Given the description of an element on the screen output the (x, y) to click on. 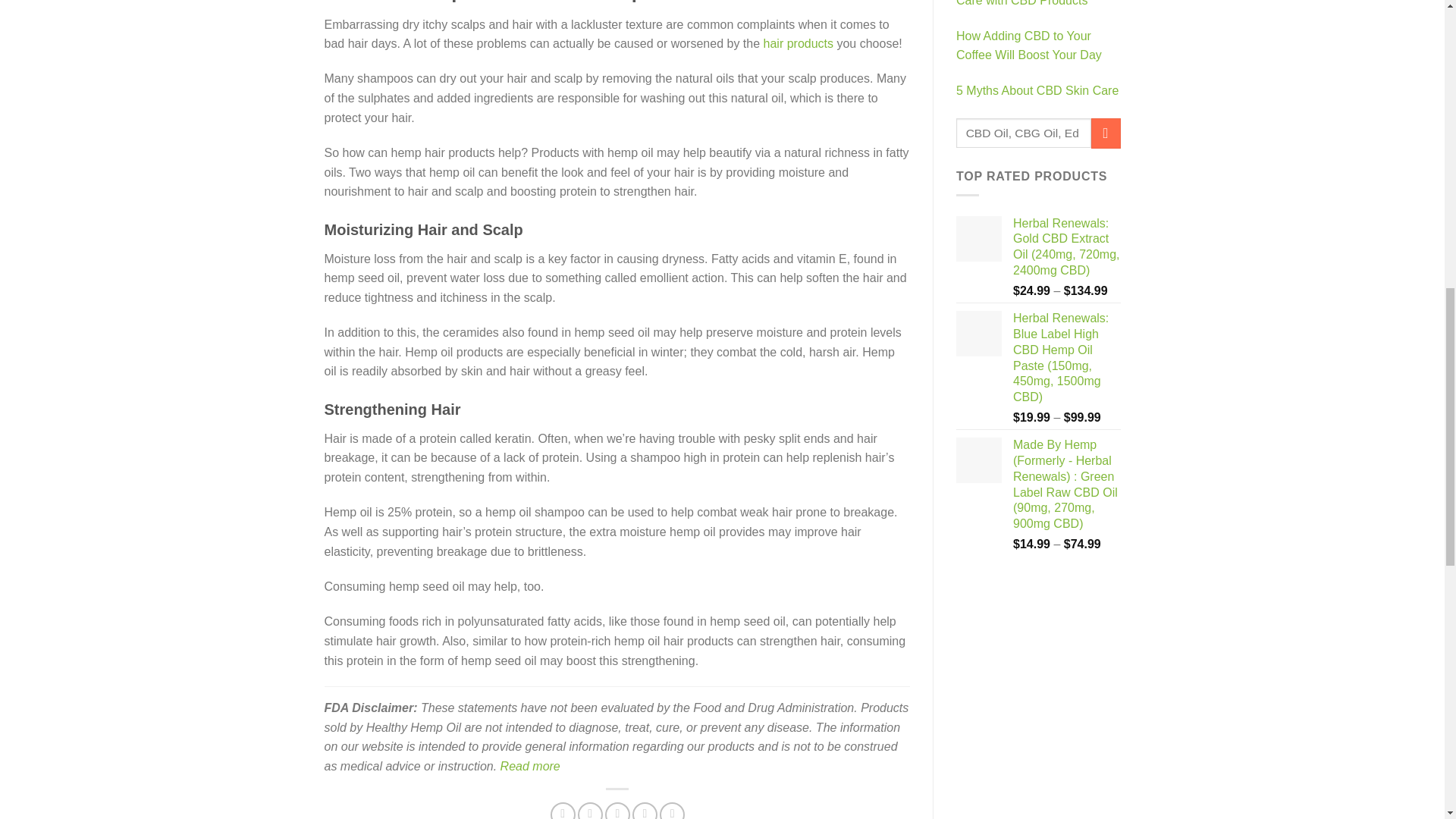
Share on Twitter (590, 810)
Pin on Pinterest (644, 810)
Share on Tumblr (671, 810)
Share on Facebook (562, 810)
Email to a Friend (617, 810)
